Given the description of an element on the screen output the (x, y) to click on. 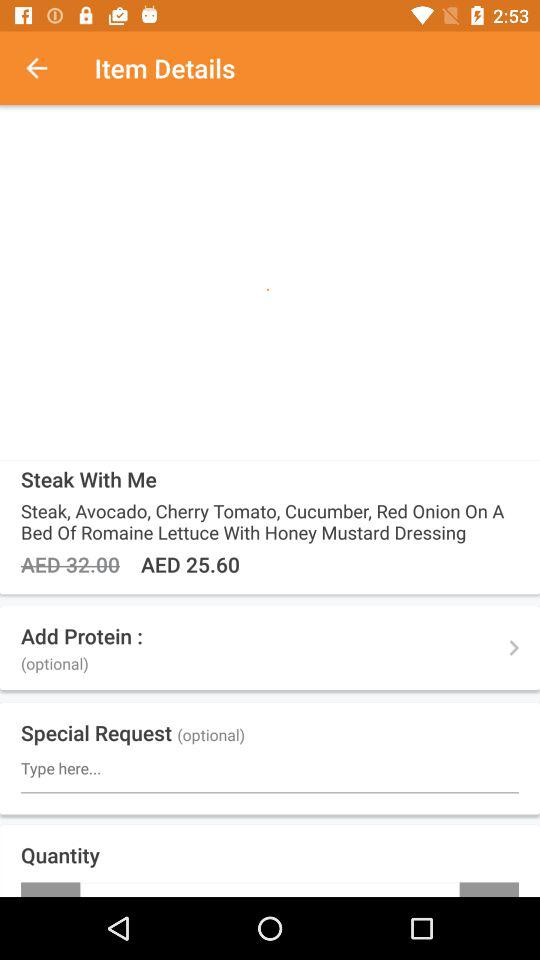
flip to - (50, 889)
